Given the description of an element on the screen output the (x, y) to click on. 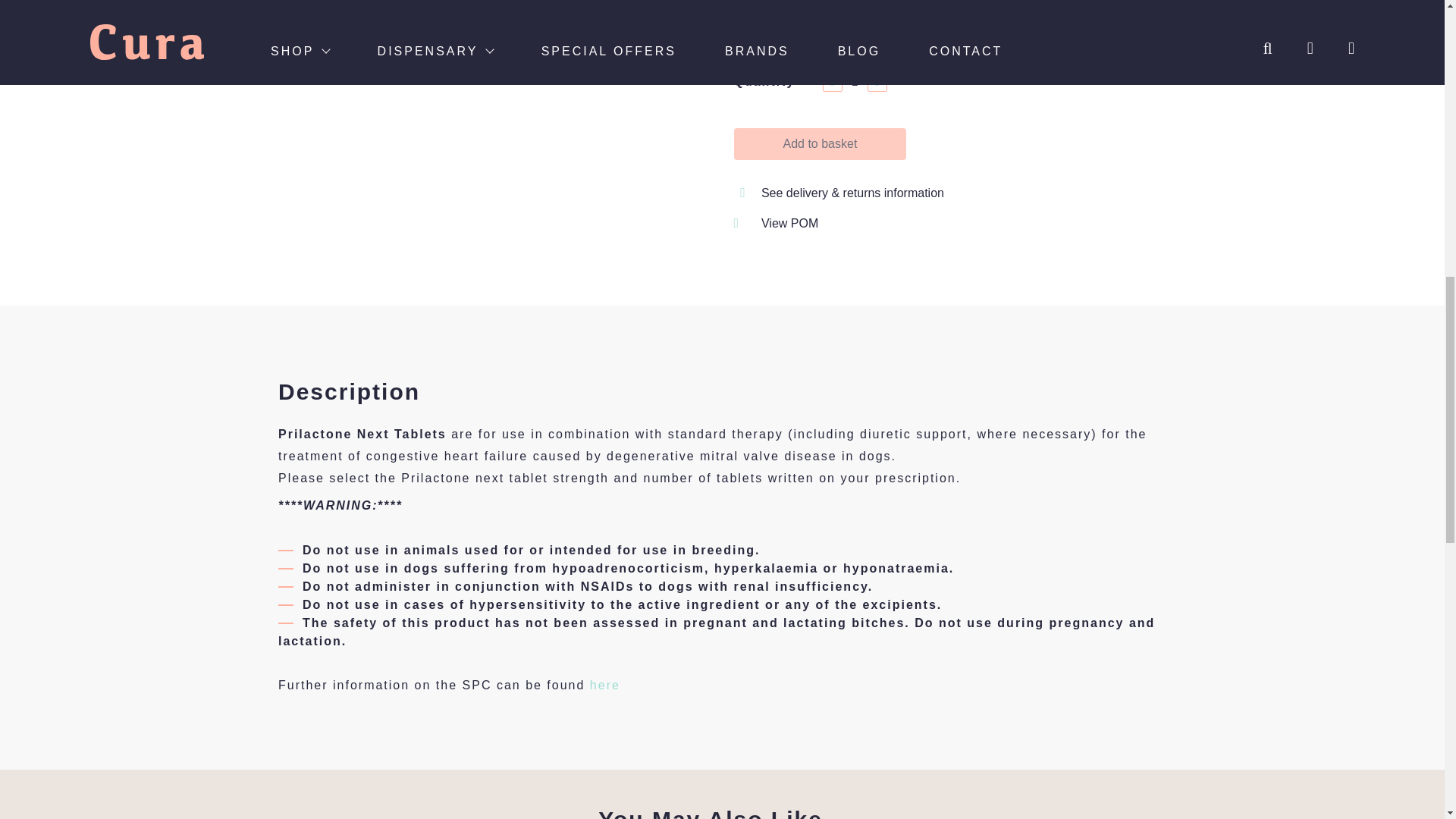
Qty (854, 81)
1 (854, 81)
